Given the description of an element on the screen output the (x, y) to click on. 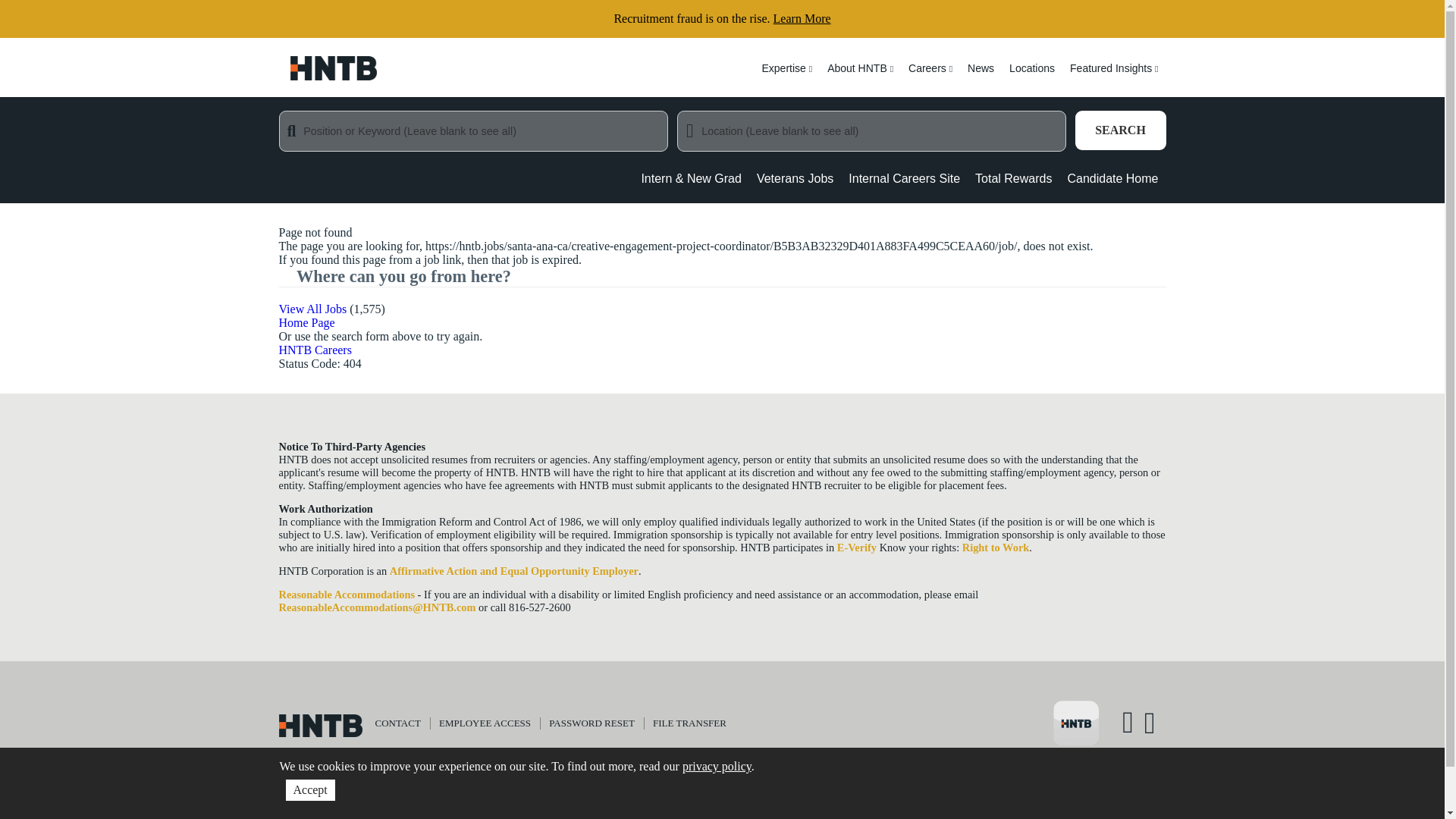
Careers (930, 77)
privacy policy (716, 766)
News (980, 77)
Featured Insights (1114, 77)
Locations (1031, 77)
Expertise (786, 77)
Accept (309, 789)
Learn More (802, 18)
About HNTB (860, 77)
